Given the description of an element on the screen output the (x, y) to click on. 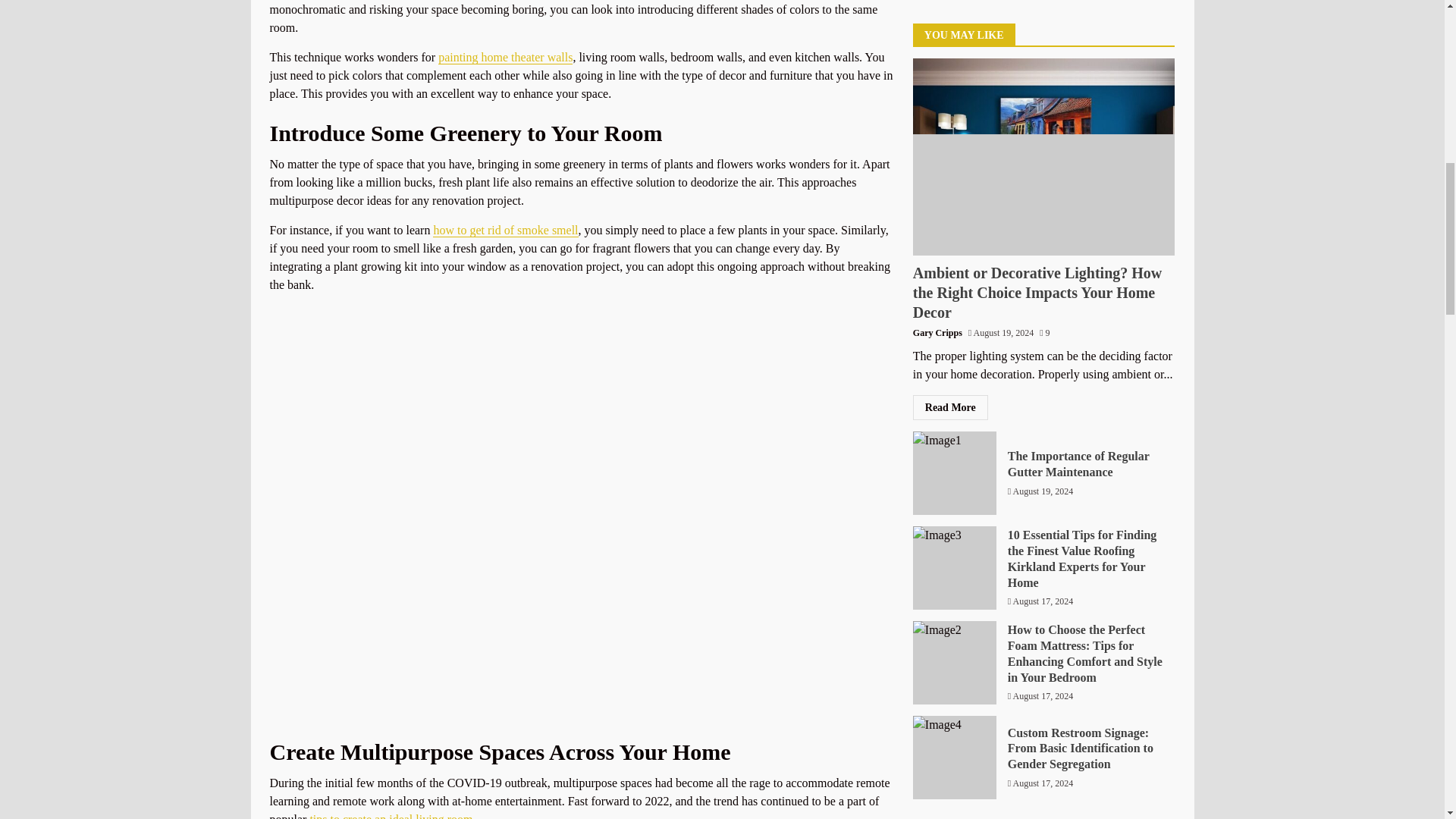
painting home theater walls (505, 57)
how to get rid of smoke smell (505, 230)
tips to create an ideal living room (389, 816)
